Given the description of an element on the screen output the (x, y) to click on. 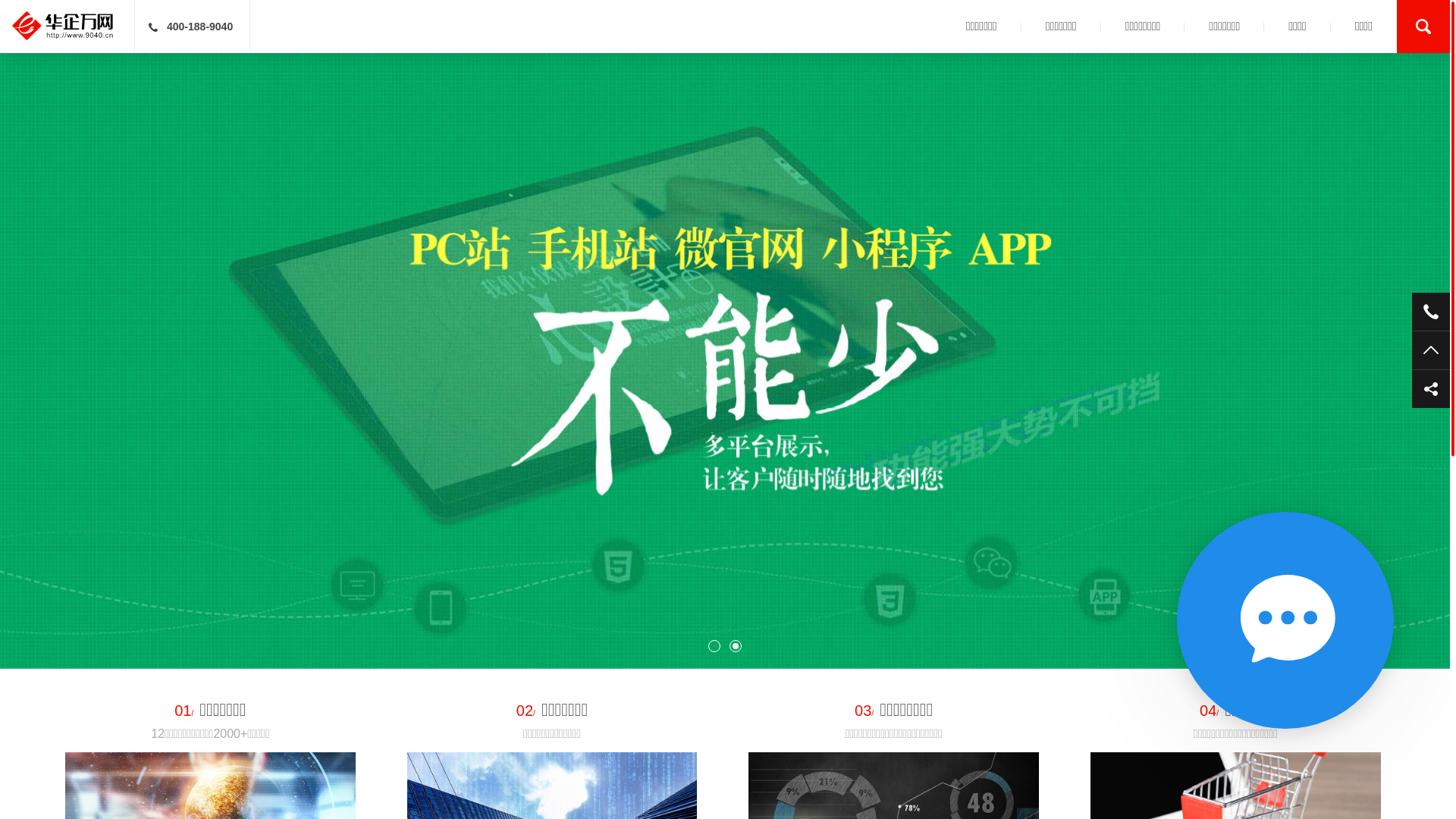
  Element type: hover (1430, 388)
2 Element type: text (735, 648)
1 Element type: text (714, 645)
